Given the description of an element on the screen output the (x, y) to click on. 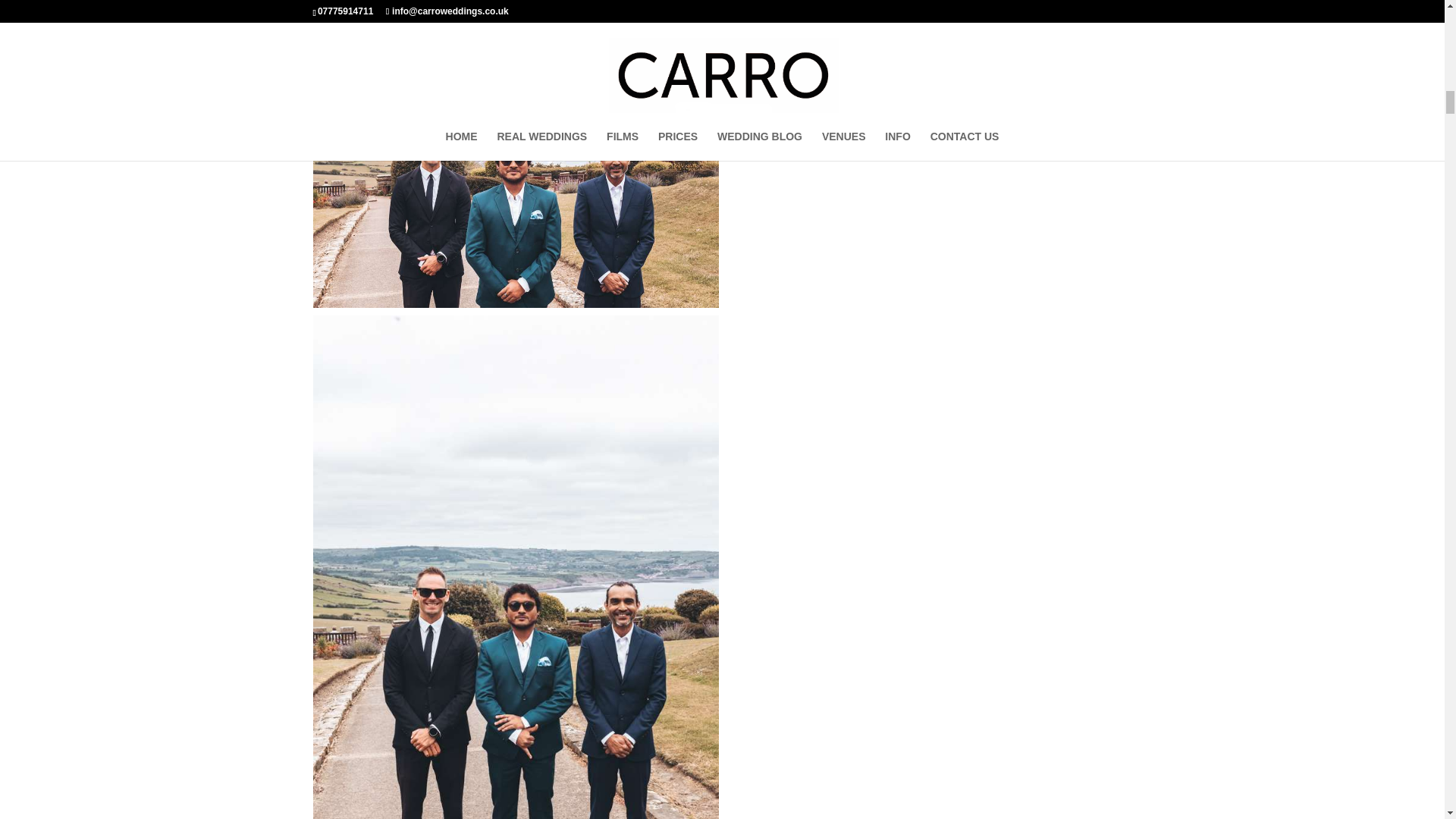
080623 Ayya and Elen Raven Hall Photos Socials Web-8 (515, 14)
080623 Ayya and Elen Raven Hall Photos Socials Web-9 (515, 171)
